Given the description of an element on the screen output the (x, y) to click on. 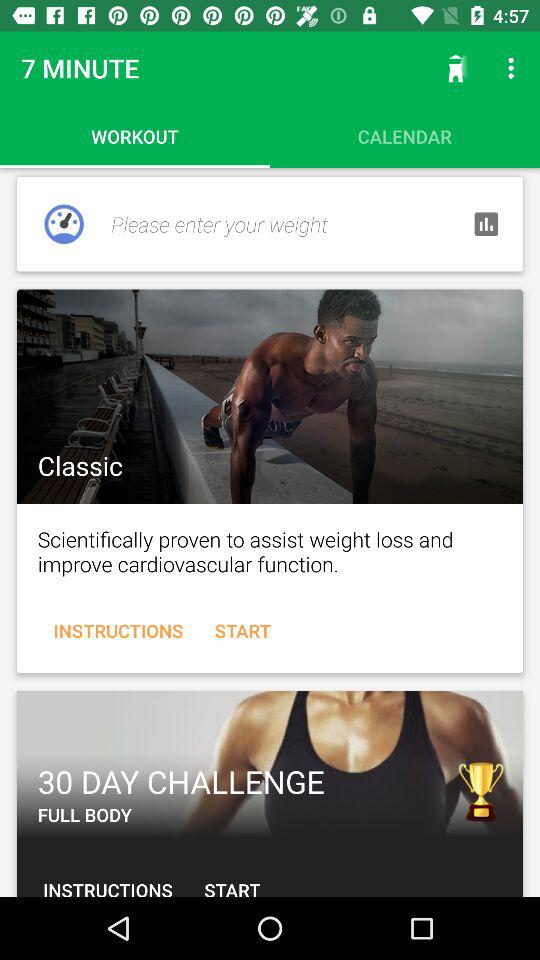
select 30 day challenge (269, 763)
